Given the description of an element on the screen output the (x, y) to click on. 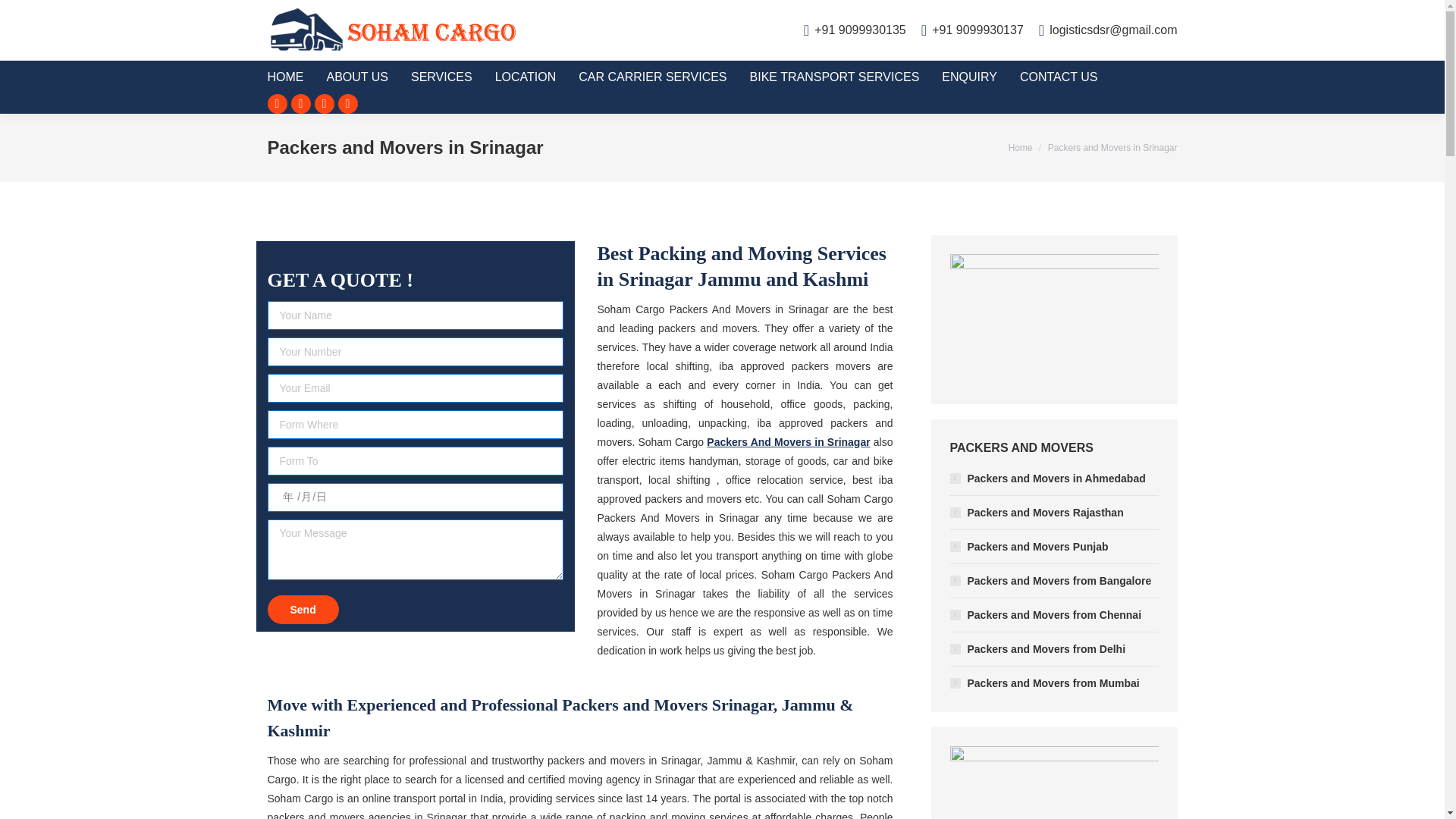
Instagram page opens in new window (323, 103)
Send (301, 608)
SERVICES (452, 77)
HOME (296, 77)
Facebook page opens in new window (276, 103)
LOCATION (537, 77)
ABOUT US (368, 77)
YouTube page opens in new window (347, 103)
CAR CARRIER SERVICES (663, 77)
Twitter page opens in new window (301, 103)
